Given the description of an element on the screen output the (x, y) to click on. 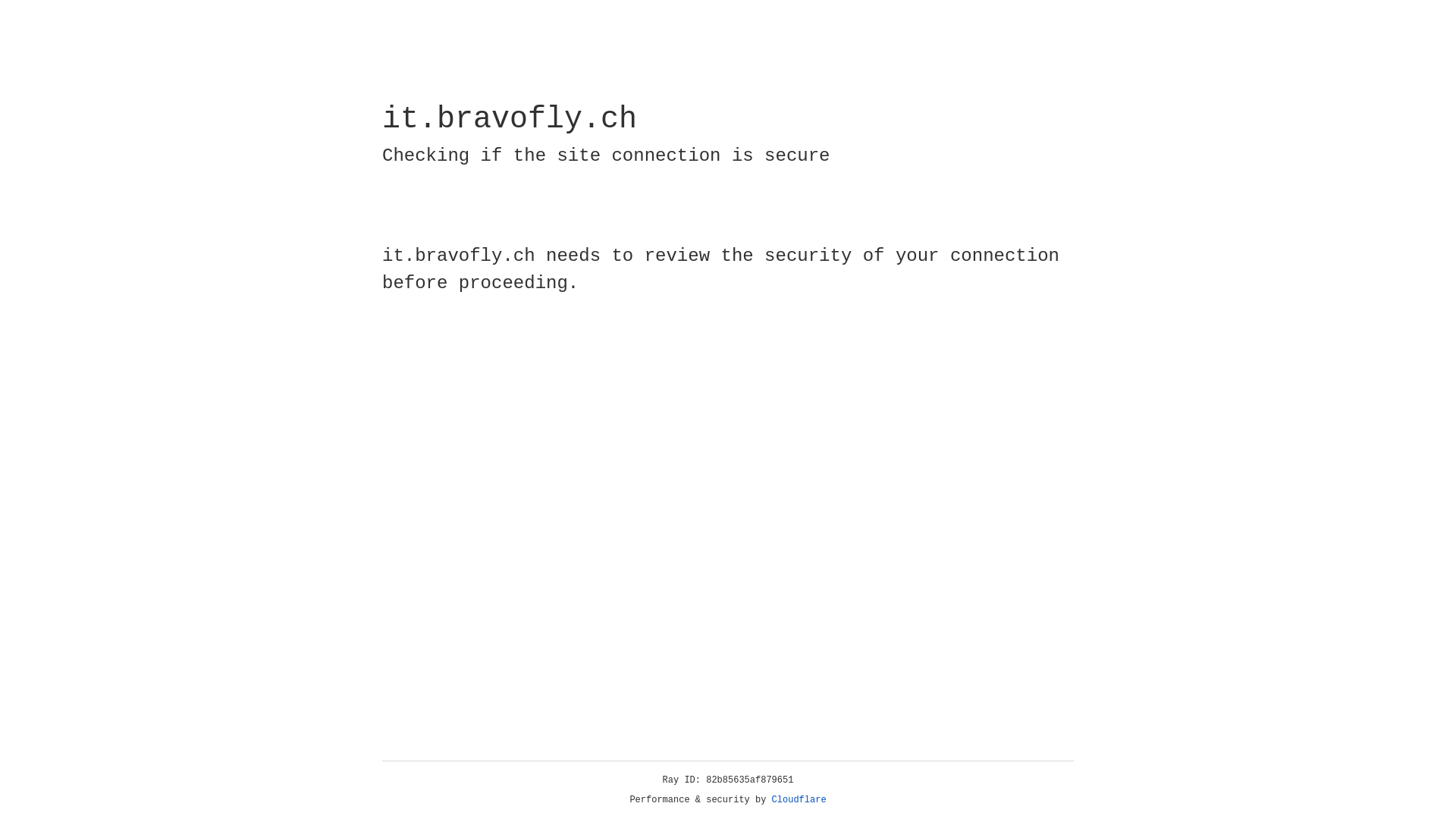
Cloudflare Element type: text (798, 799)
